Given the description of an element on the screen output the (x, y) to click on. 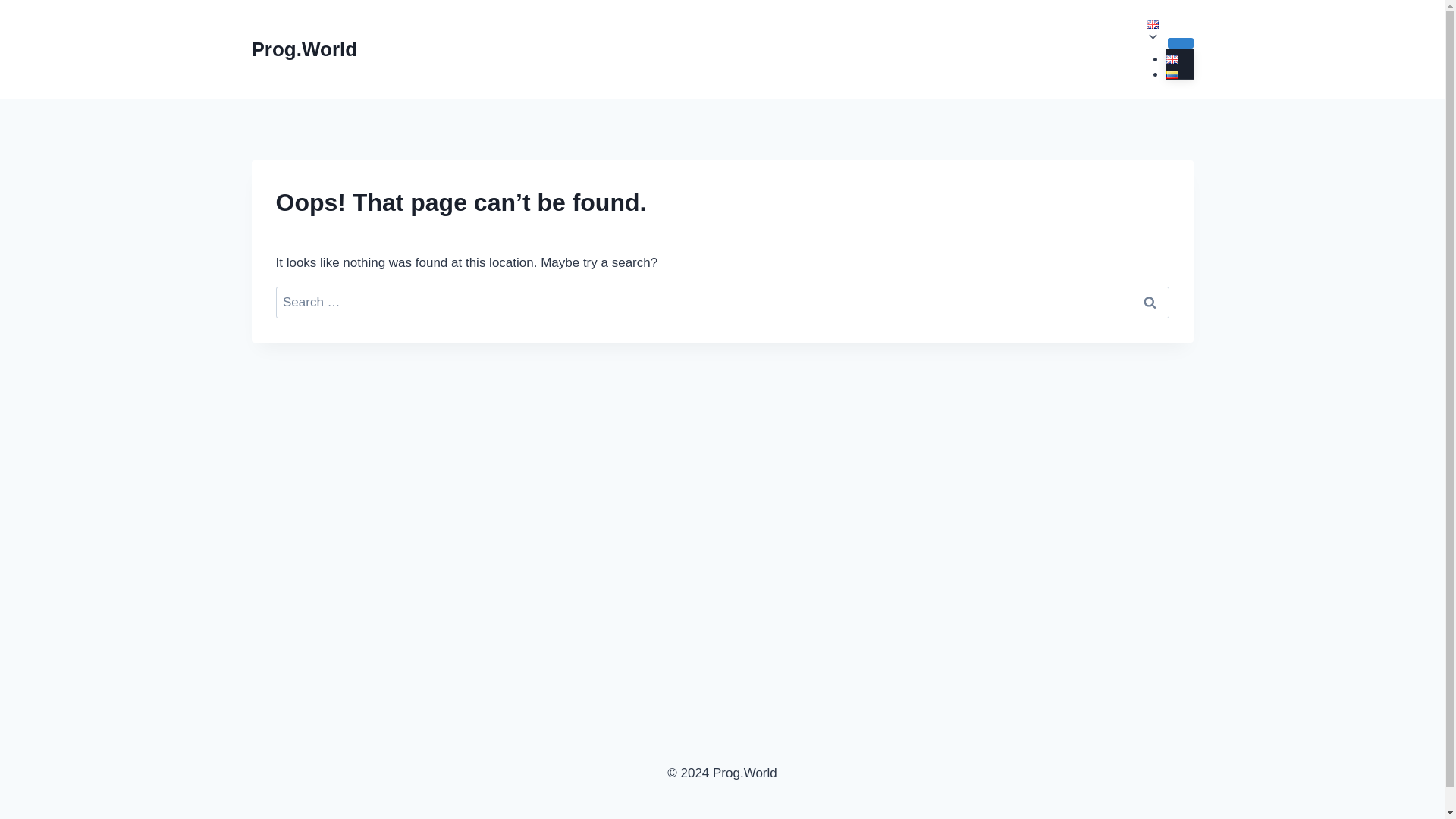
Search (1150, 302)
Prog.World (304, 49)
Search (1150, 302)
Search (1150, 302)
